Given the description of an element on the screen output the (x, y) to click on. 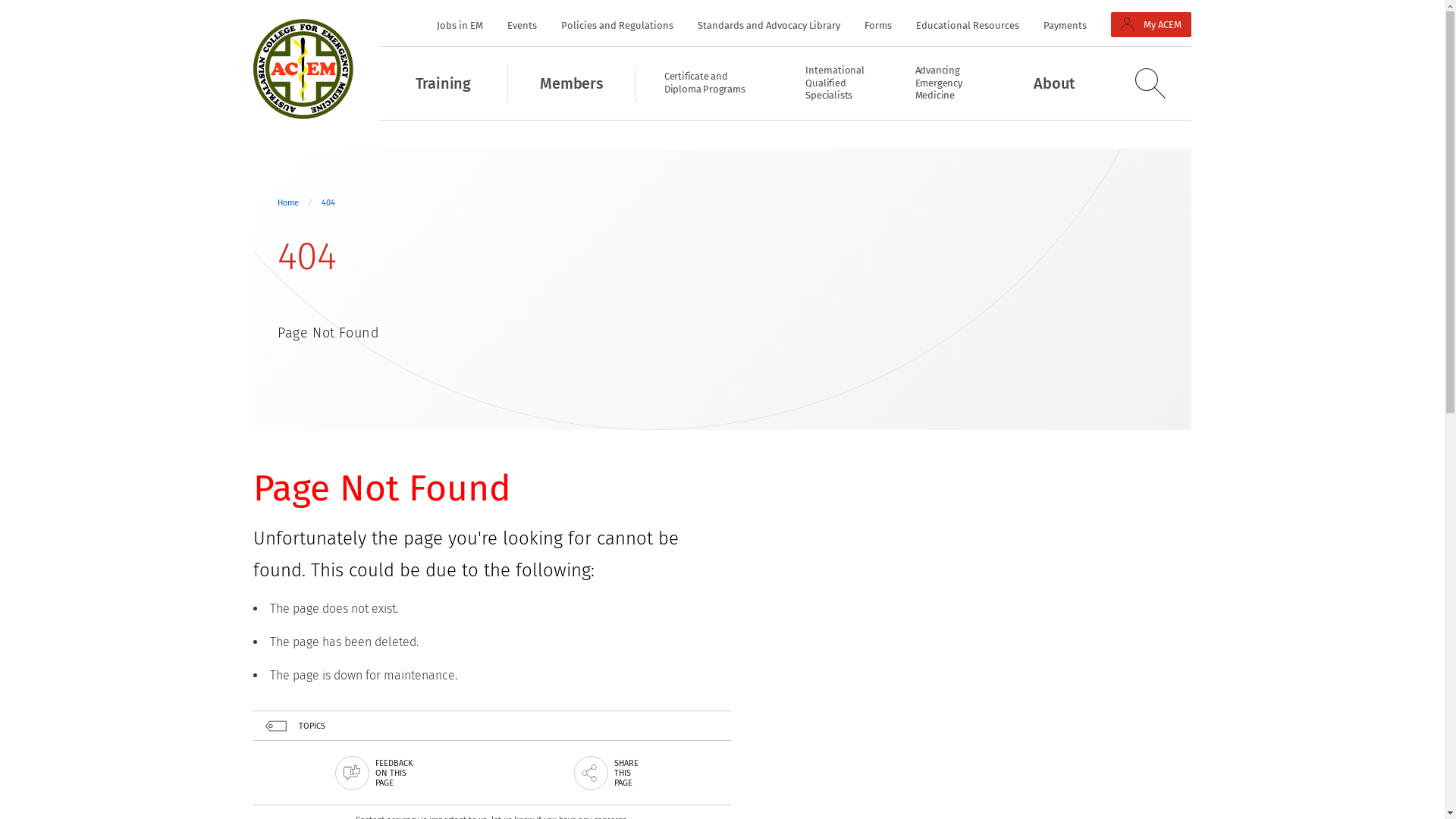
Members Element type: text (572, 83)
404 Element type: text (328, 202)
About Element type: text (1054, 83)
Advancing Emergency Medicine Element type: text (941, 83)
Training Element type: text (443, 83)
Educational Resources Element type: text (967, 25)
Certificate and Diploma Programs Element type: text (707, 83)
My ACEM Element type: text (1150, 24)
Events Element type: text (521, 25)
Payments Element type: text (1064, 25)
Standards and Advocacy Library Element type: text (768, 25)
Forms Element type: text (877, 25)
Policies and Regulations Element type: text (617, 25)
Jobs in EM Element type: text (459, 25)
FEEDBACK ON THIS PAGE Element type: text (373, 773)
Home Element type: text (287, 202)
International Qualified Specialists Element type: text (832, 83)
SHARE THIS PAGE Element type: text (611, 773)
